Given the description of an element on the screen output the (x, y) to click on. 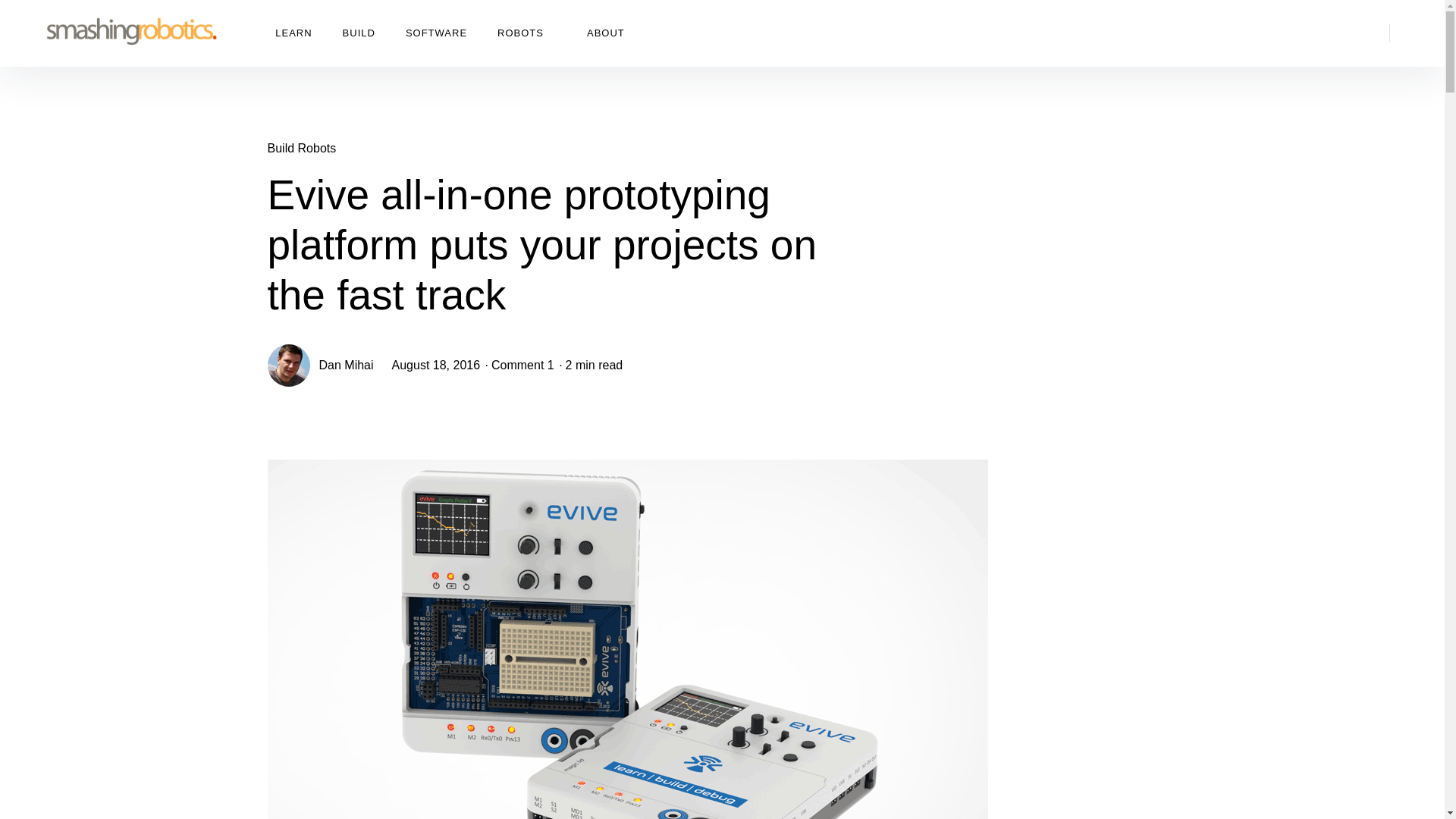
Dan Mihai (345, 364)
Comment 1 (523, 364)
Build Robots (301, 147)
Robotics Software (436, 33)
Smashing Robotics (124, 32)
SOFTWARE (436, 33)
August 18, 2016 (435, 364)
